Given the description of an element on the screen output the (x, y) to click on. 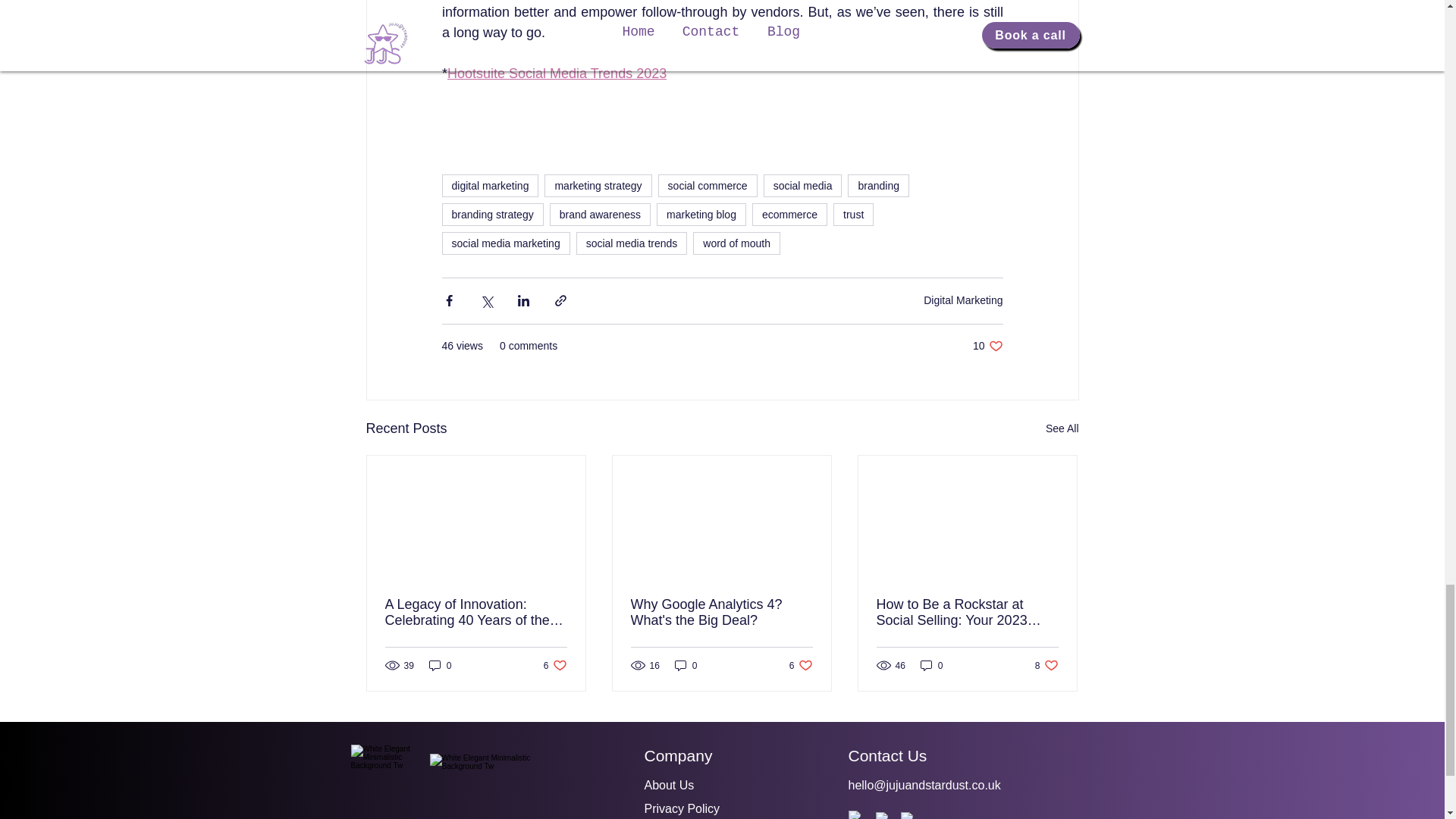
Hootsuite Social Media Trends 2023 (556, 73)
word of mouth (555, 665)
0 (736, 242)
brand awareness (440, 665)
marketing strategy (600, 214)
Why Google Analytics 4? What's the Big Deal? (597, 185)
branding (721, 612)
Digital Marketing (877, 185)
